Given the description of an element on the screen output the (x, y) to click on. 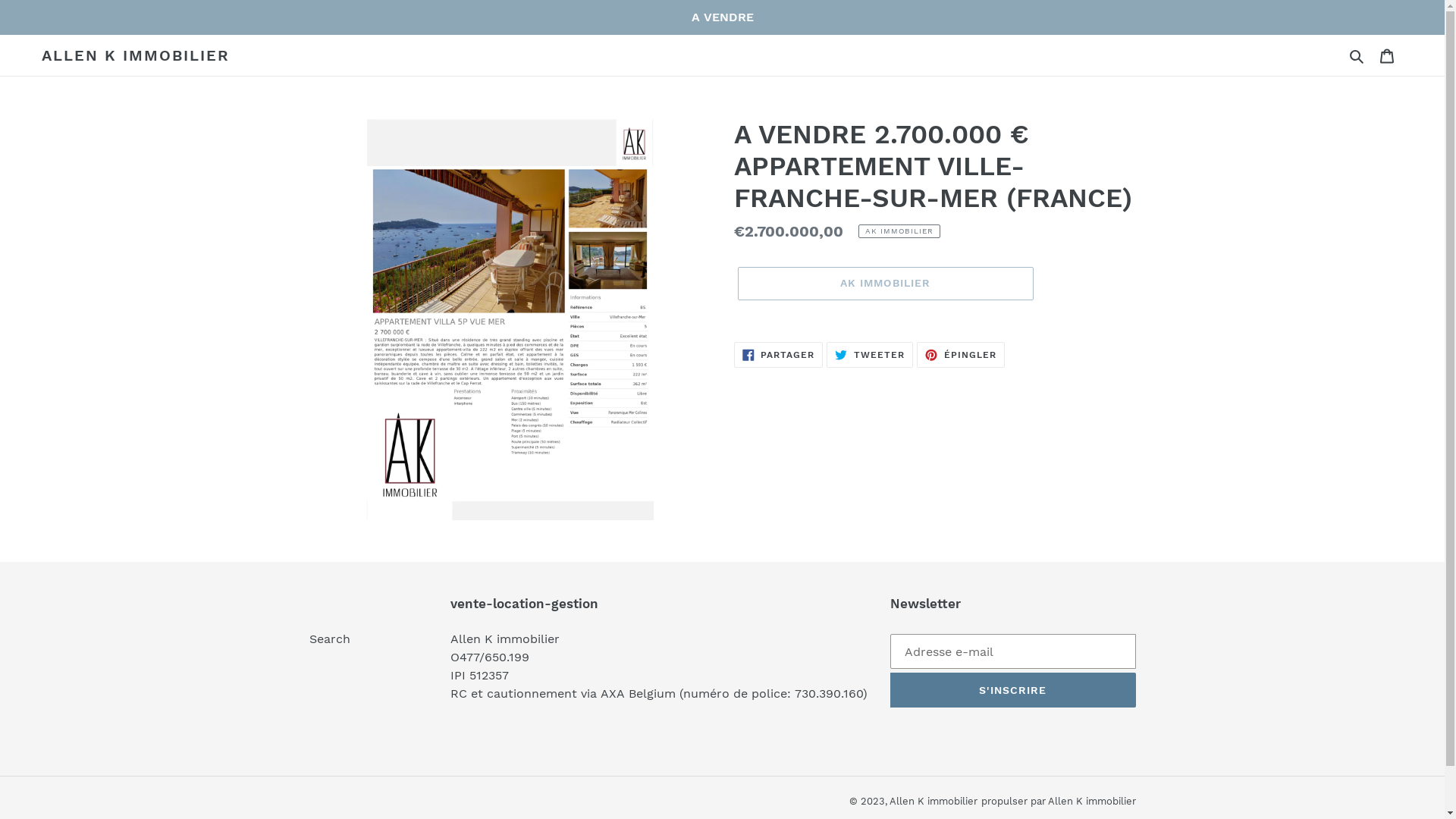
Rechercher Element type: text (1357, 55)
Search Element type: text (329, 638)
ALLEN K IMMOBILIER Element type: text (135, 55)
AK IMMOBILIER Element type: text (884, 283)
PARTAGER
PARTAGER SUR FACEBOOK Element type: text (778, 354)
TWEETER
TWEETER SUR TWITTER Element type: text (869, 354)
S'INSCRIRE Element type: text (1012, 689)
A VENDRE Element type: text (722, 17)
Allen K immobilier Element type: text (932, 800)
propulser par Allen K immobilier Element type: text (1058, 800)
